Given the description of an element on the screen output the (x, y) to click on. 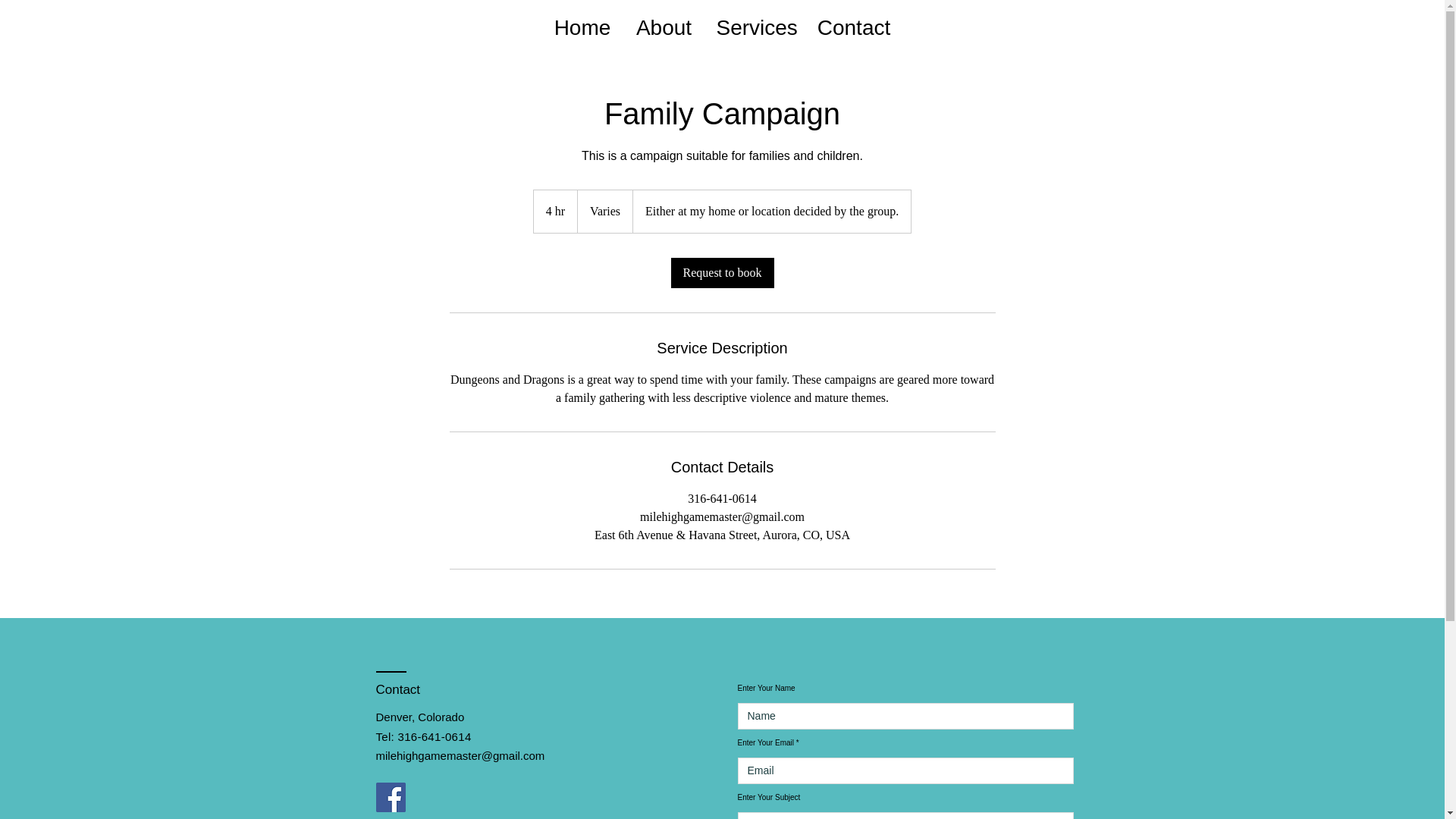
About (663, 27)
Request to book (721, 272)
Contact (853, 27)
Home (582, 27)
Services (754, 27)
